Given the description of an element on the screen output the (x, y) to click on. 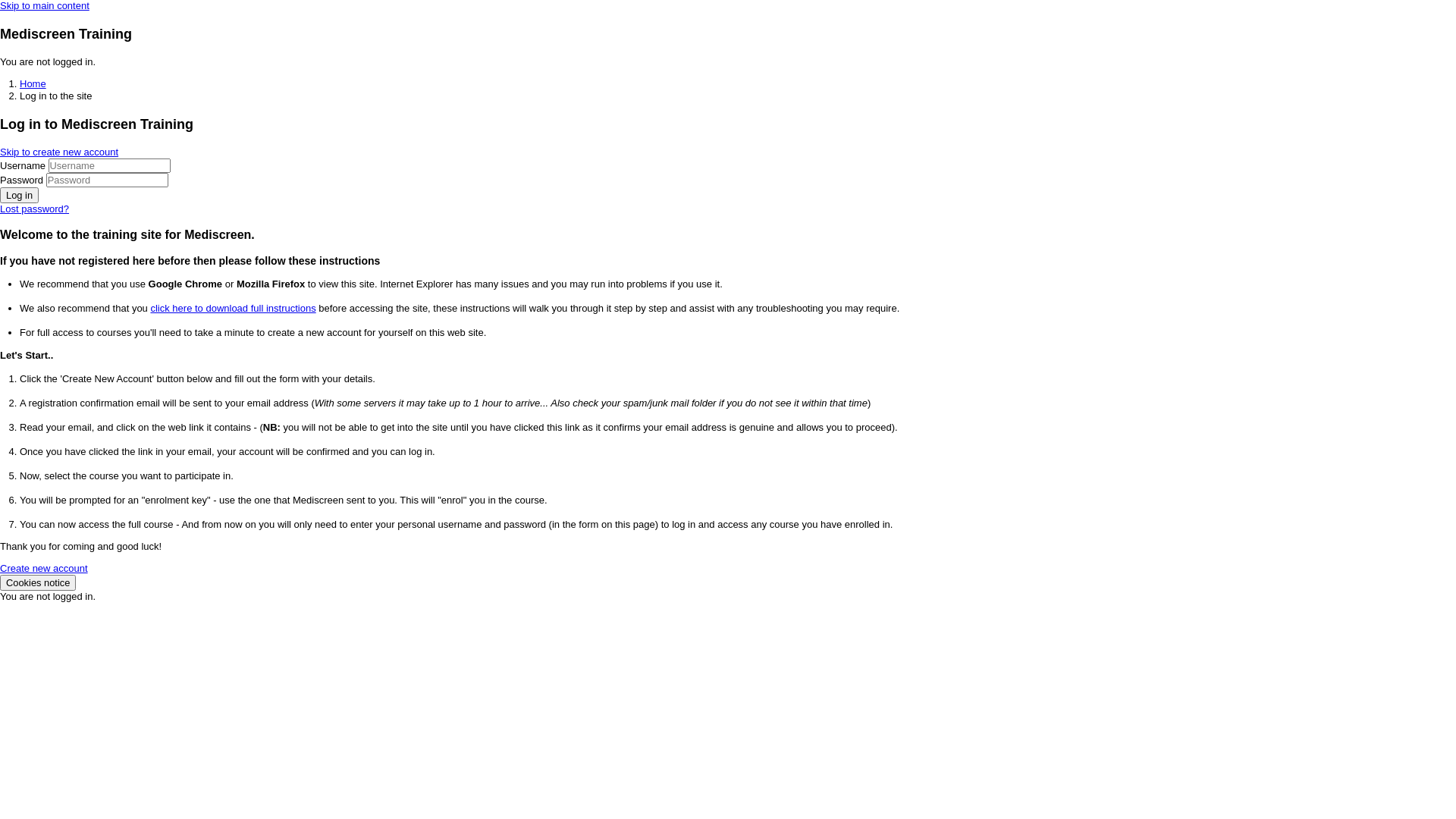
Cookies notice Element type: text (37, 582)
Skip to main content Element type: text (44, 5)
Lost password? Element type: text (34, 208)
Log in Element type: text (19, 195)
Home Element type: text (32, 83)
Skip to create new account Element type: text (59, 151)
click here to download full instructions Element type: text (232, 307)
Create new account Element type: text (43, 568)
